Given the description of an element on the screen output the (x, y) to click on. 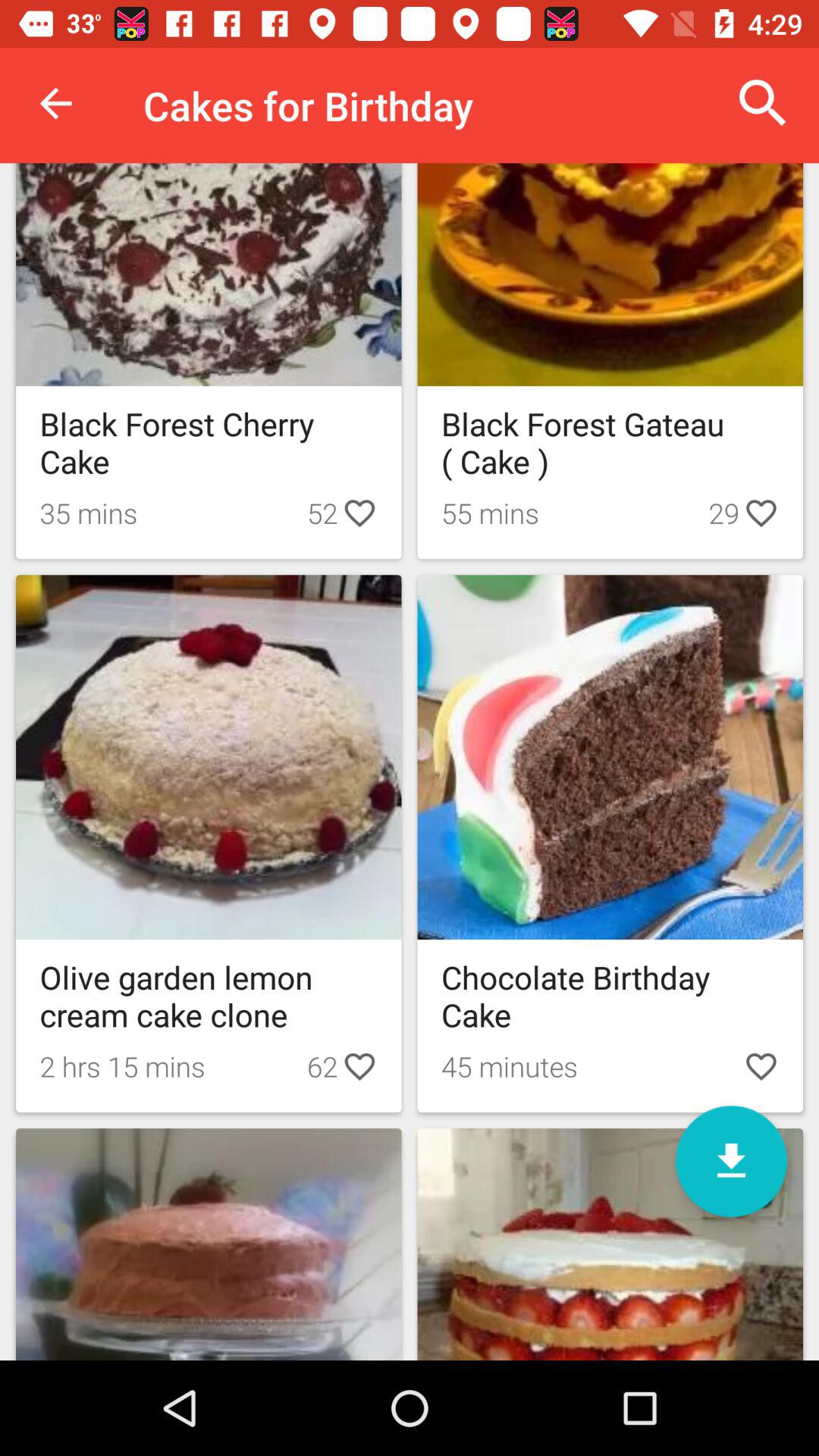
select item next to cakes for birthday item (763, 103)
